Given the description of an element on the screen output the (x, y) to click on. 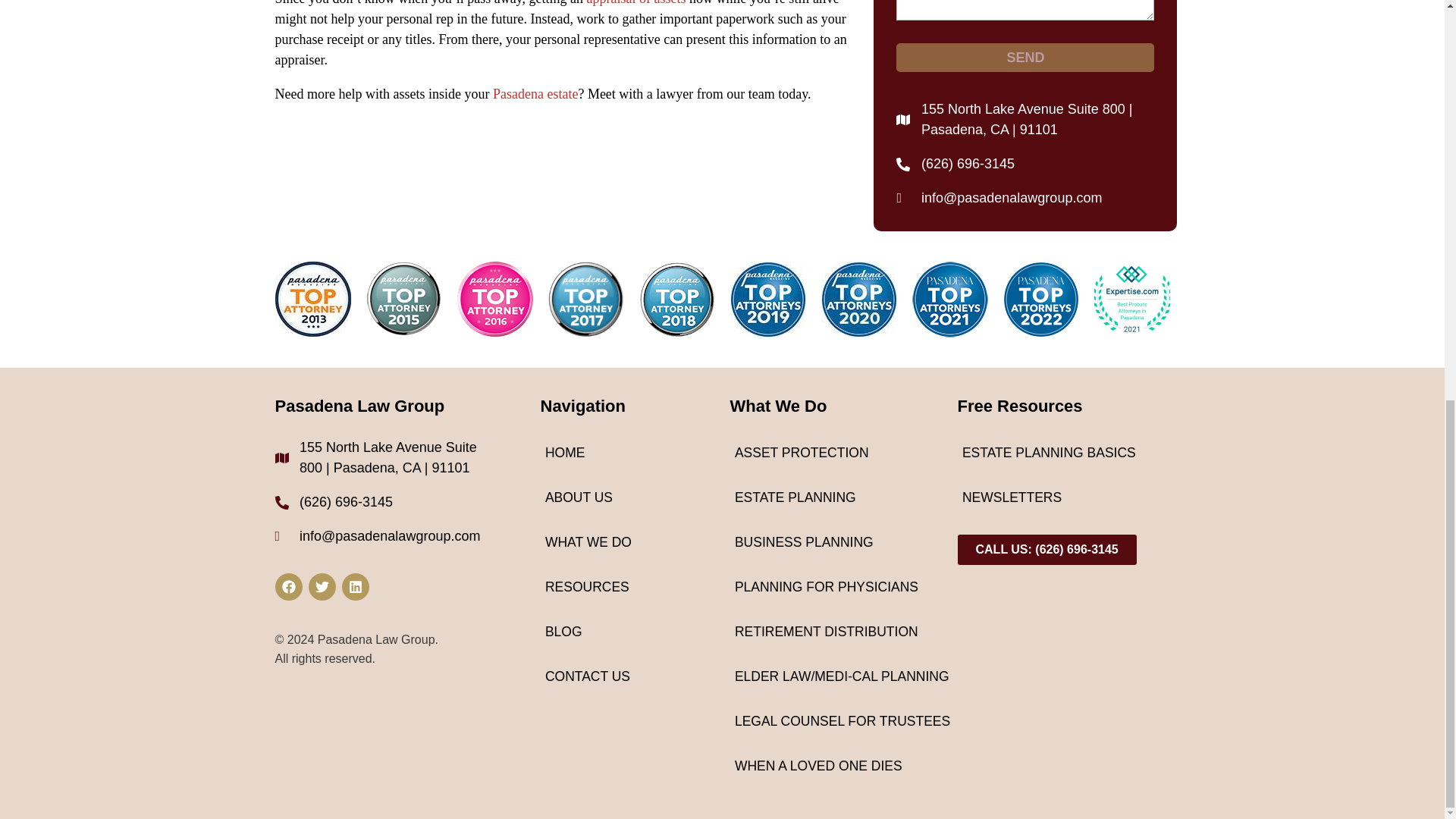
SEND (1025, 57)
Pasadena estate (535, 93)
appraisal of assets (635, 2)
SEND (1025, 57)
